Given the description of an element on the screen output the (x, y) to click on. 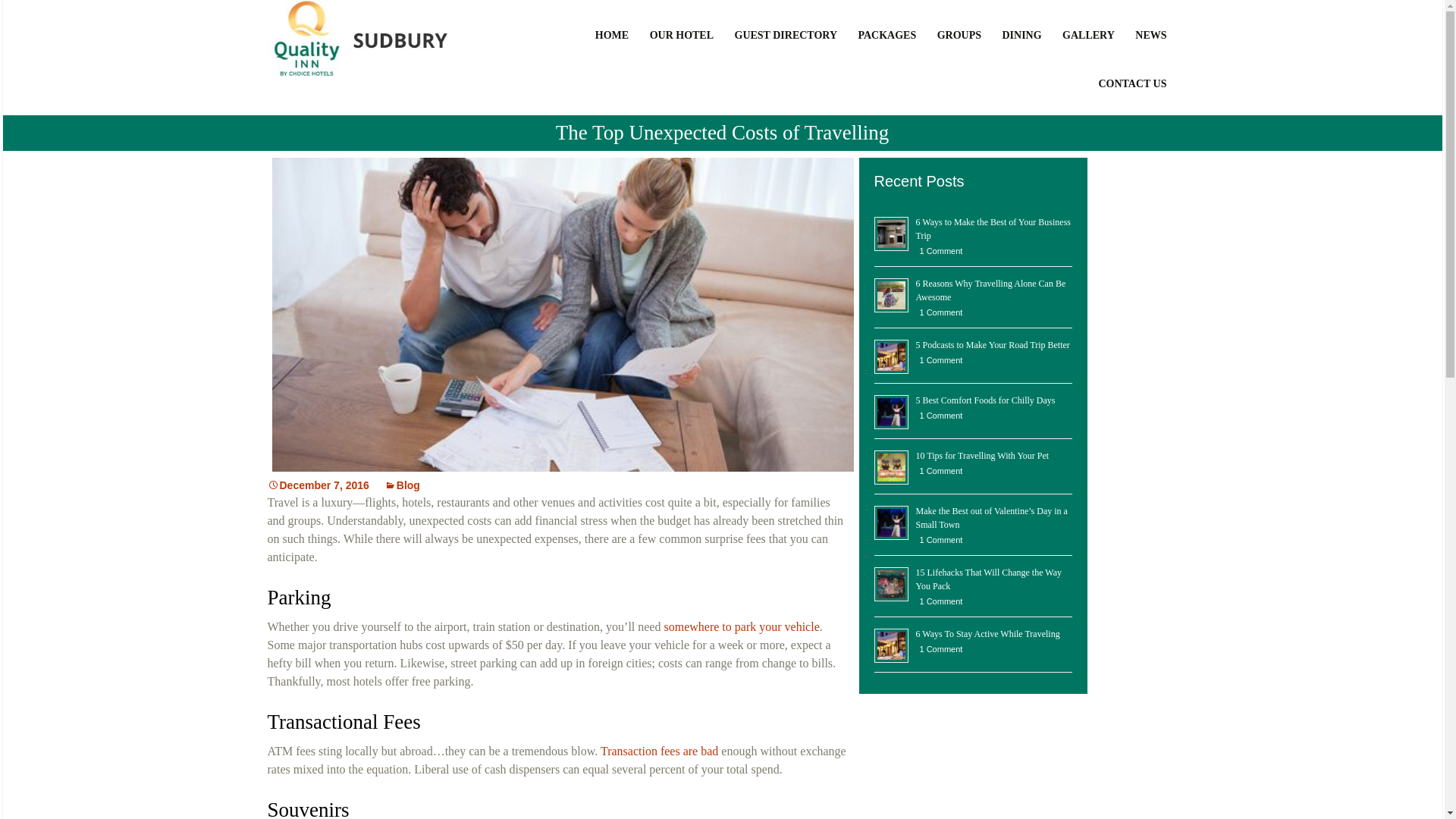
1 Comment (938, 359)
1 Comment (938, 311)
1 Comment (938, 470)
GALLERY (1090, 52)
somewhere to park your vehicle (740, 626)
OUR HOTEL (683, 52)
GROUPS (960, 52)
PACKAGES (888, 52)
Permalink to The Top Unexpected Costs of Travelling (317, 485)
DINING (1022, 52)
1 Comment (938, 539)
December 7, 2016 (317, 485)
10 Tips for Travelling With Your Pet (982, 455)
GUEST DIRECTORY (788, 52)
1 Comment (938, 250)
